Given the description of an element on the screen output the (x, y) to click on. 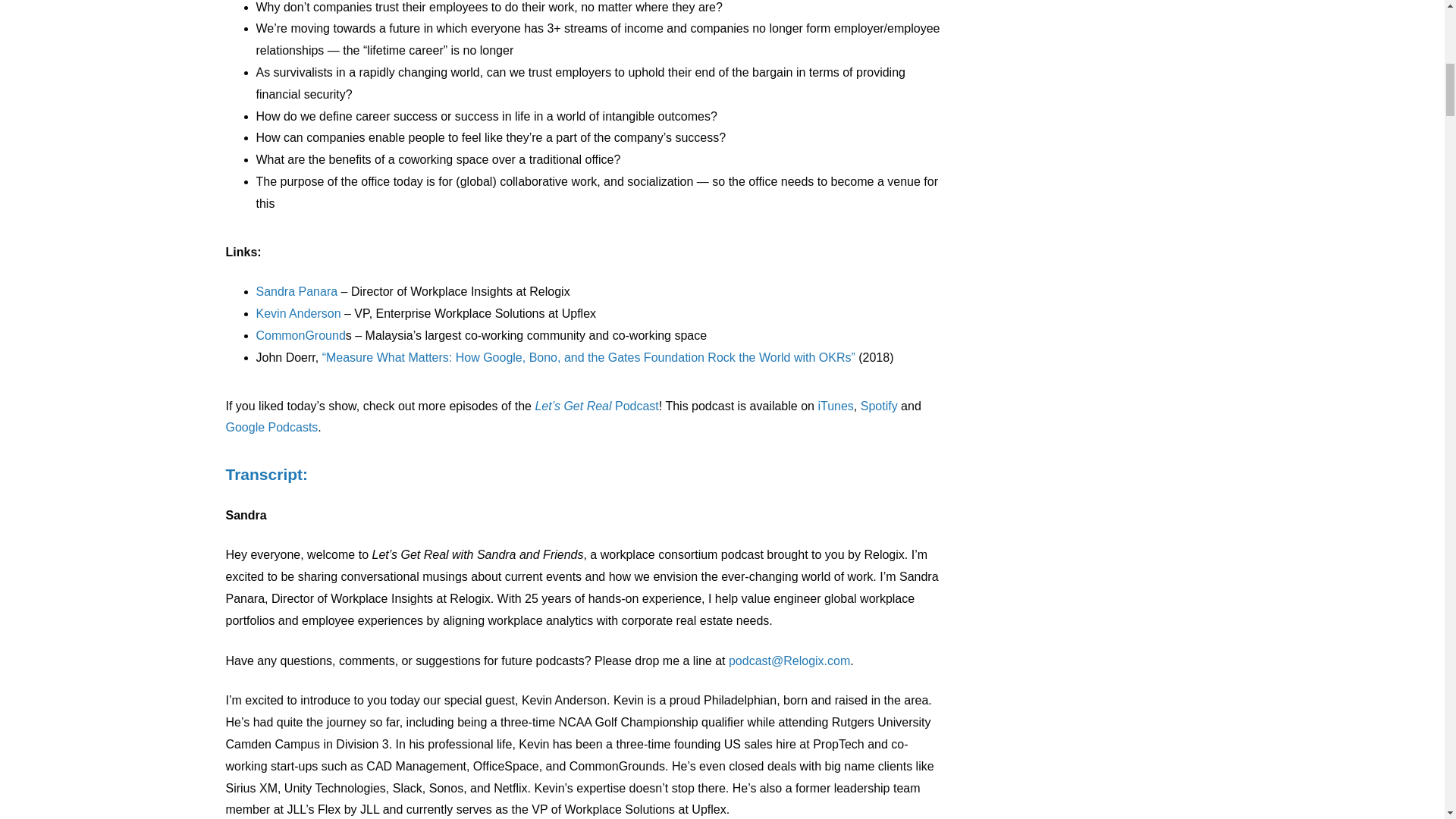
Kevin Anderson (298, 313)
CommonGround (301, 335)
Sandra Panara (296, 291)
